Given the description of an element on the screen output the (x, y) to click on. 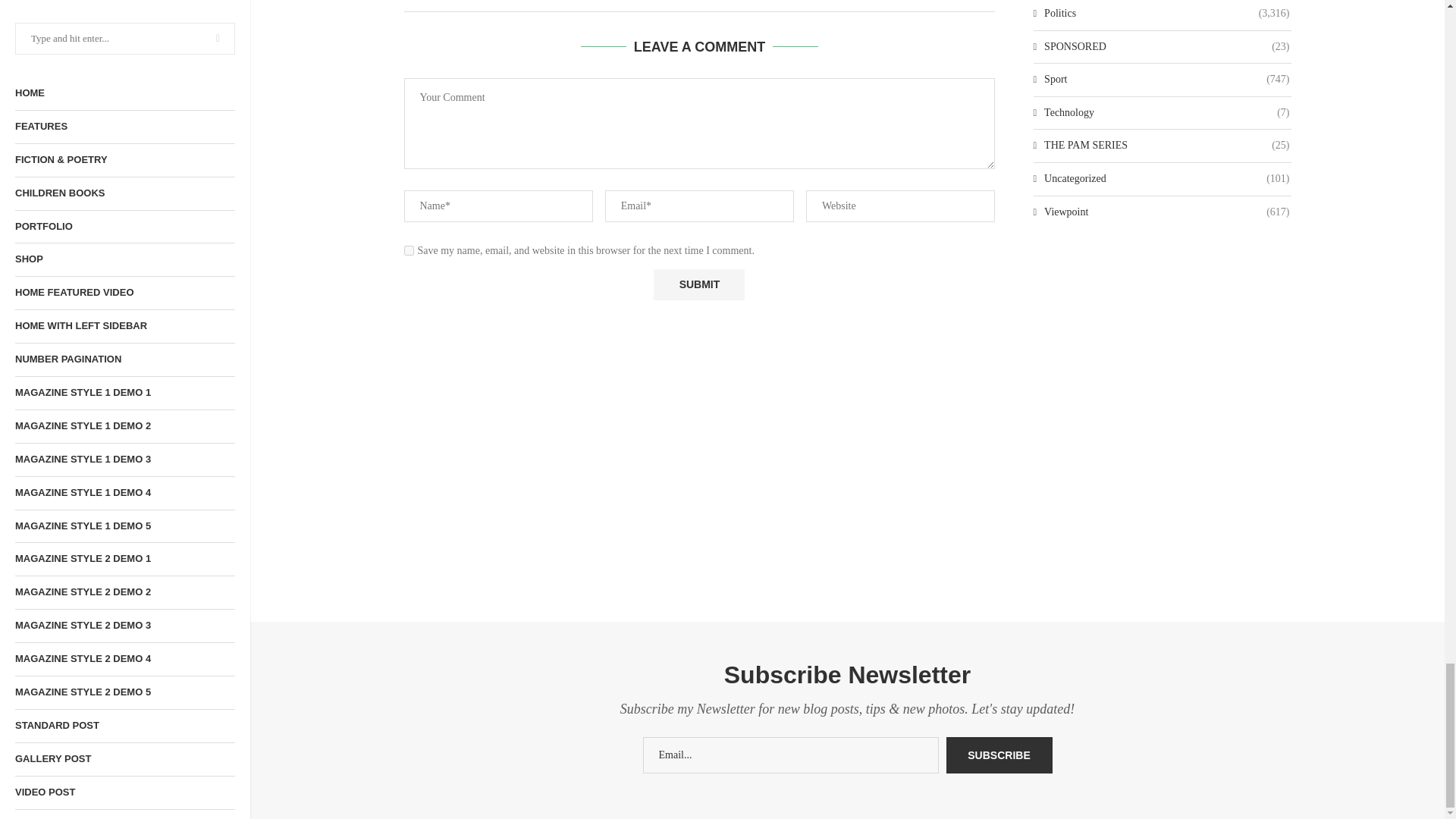
yes (408, 250)
Submit (698, 284)
Subscribe (999, 755)
